Given the description of an element on the screen output the (x, y) to click on. 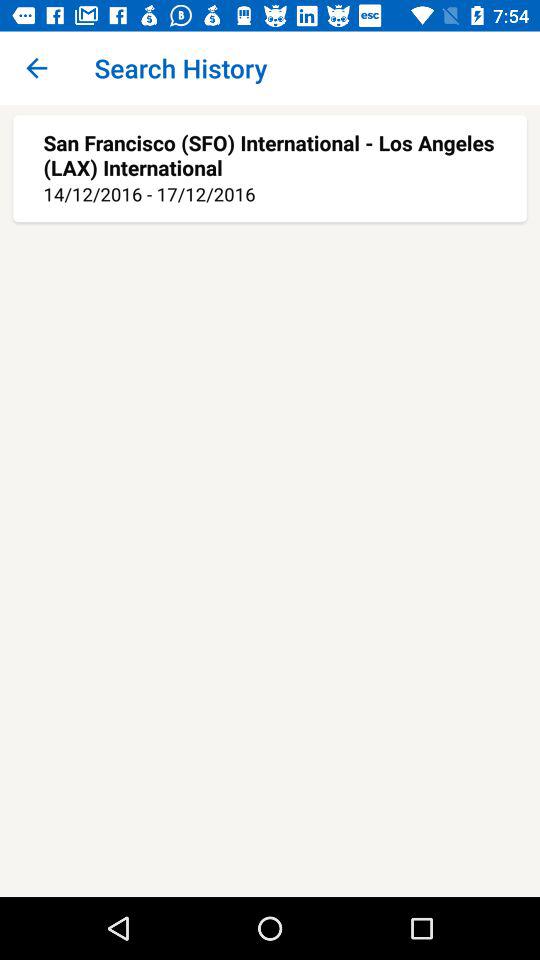
click item above 14 12 2016 item (269, 154)
